Given the description of an element on the screen output the (x, y) to click on. 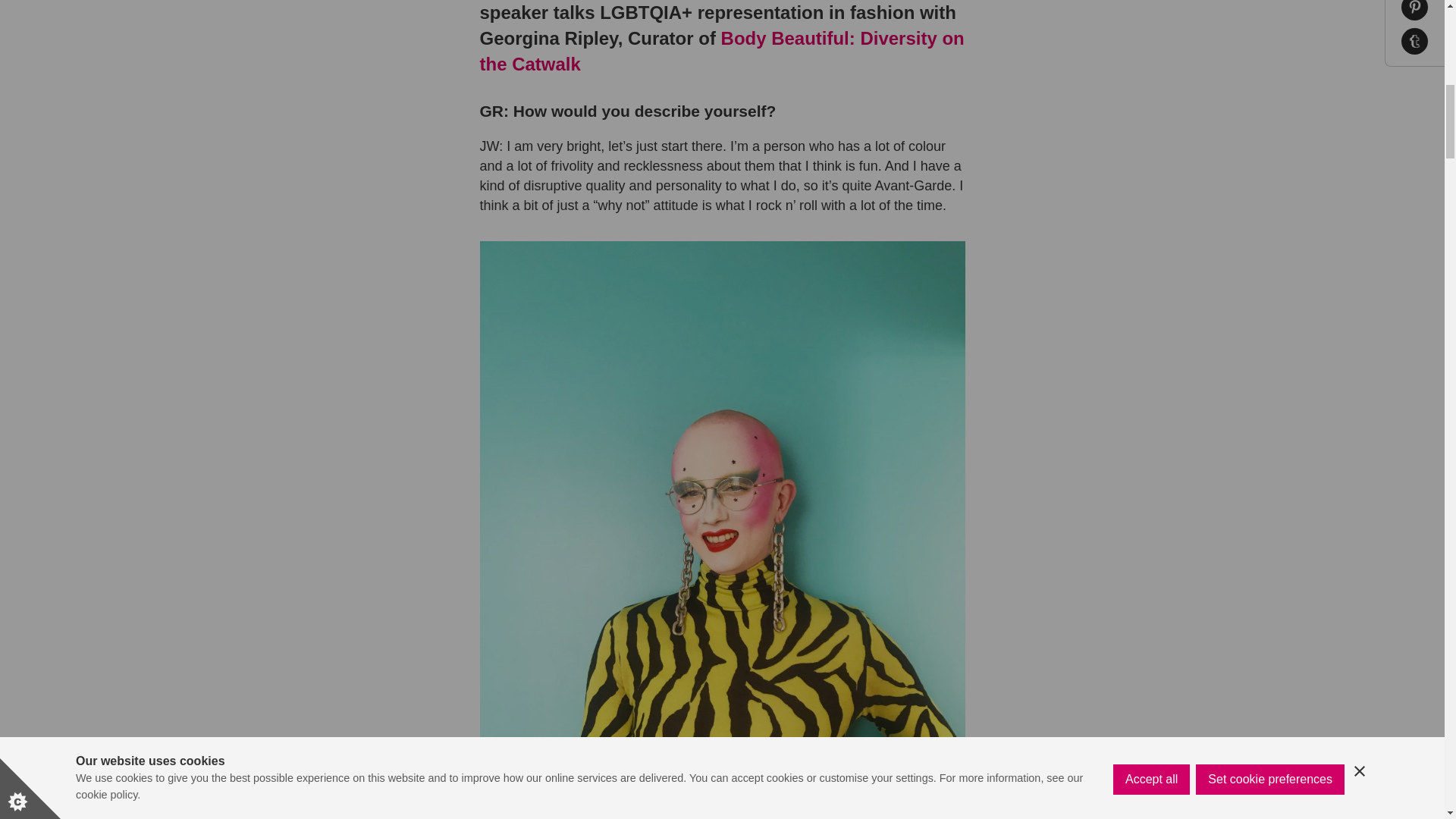
Set cookie preferences (1269, 8)
cookie policy. (107, 39)
Accept all (1151, 16)
